Given the description of an element on the screen output the (x, y) to click on. 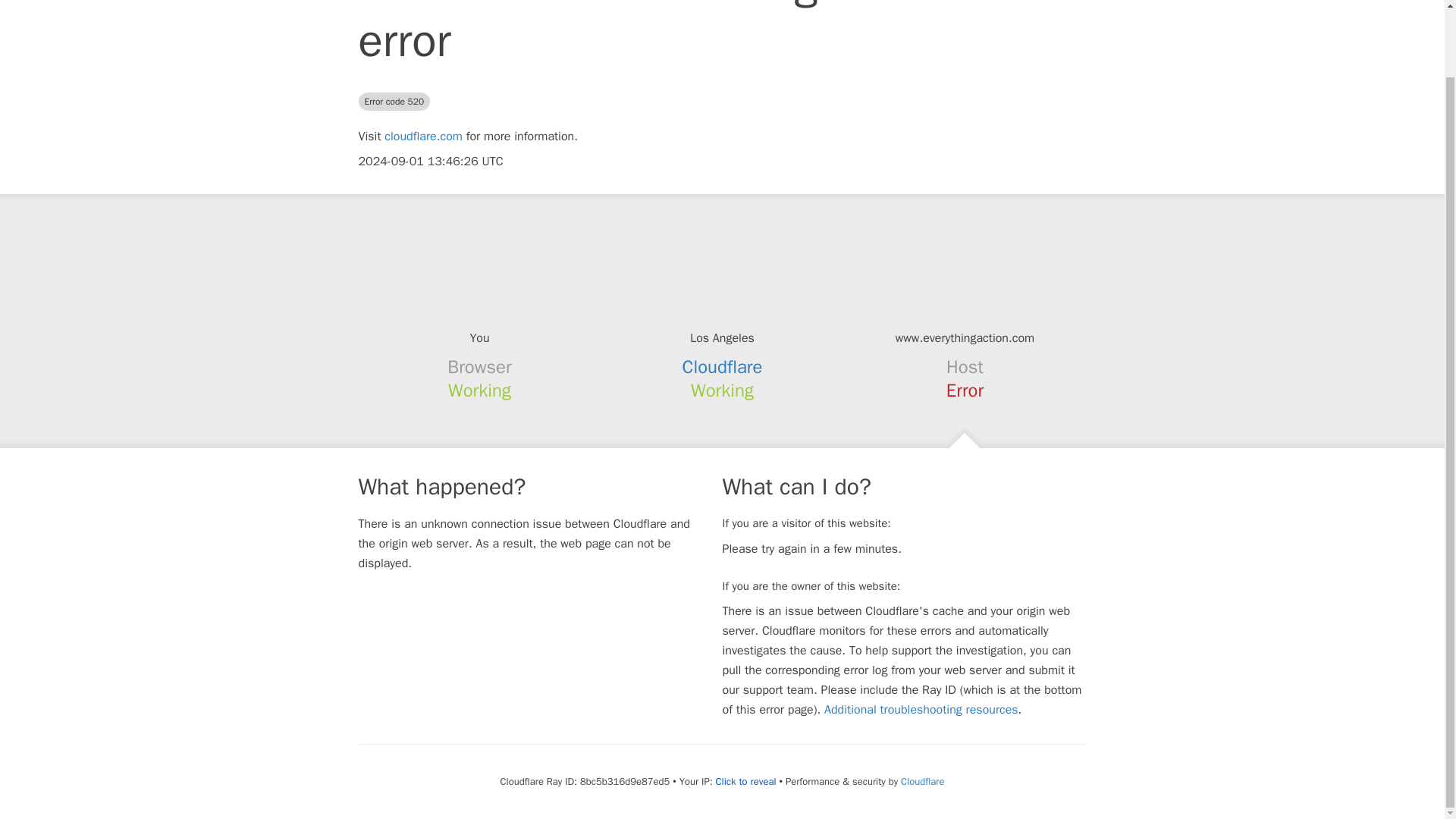
Click to reveal (746, 781)
Additional troubleshooting resources (920, 709)
cloudflare.com (423, 136)
Cloudflare (722, 366)
Cloudflare (922, 780)
